Given the description of an element on the screen output the (x, y) to click on. 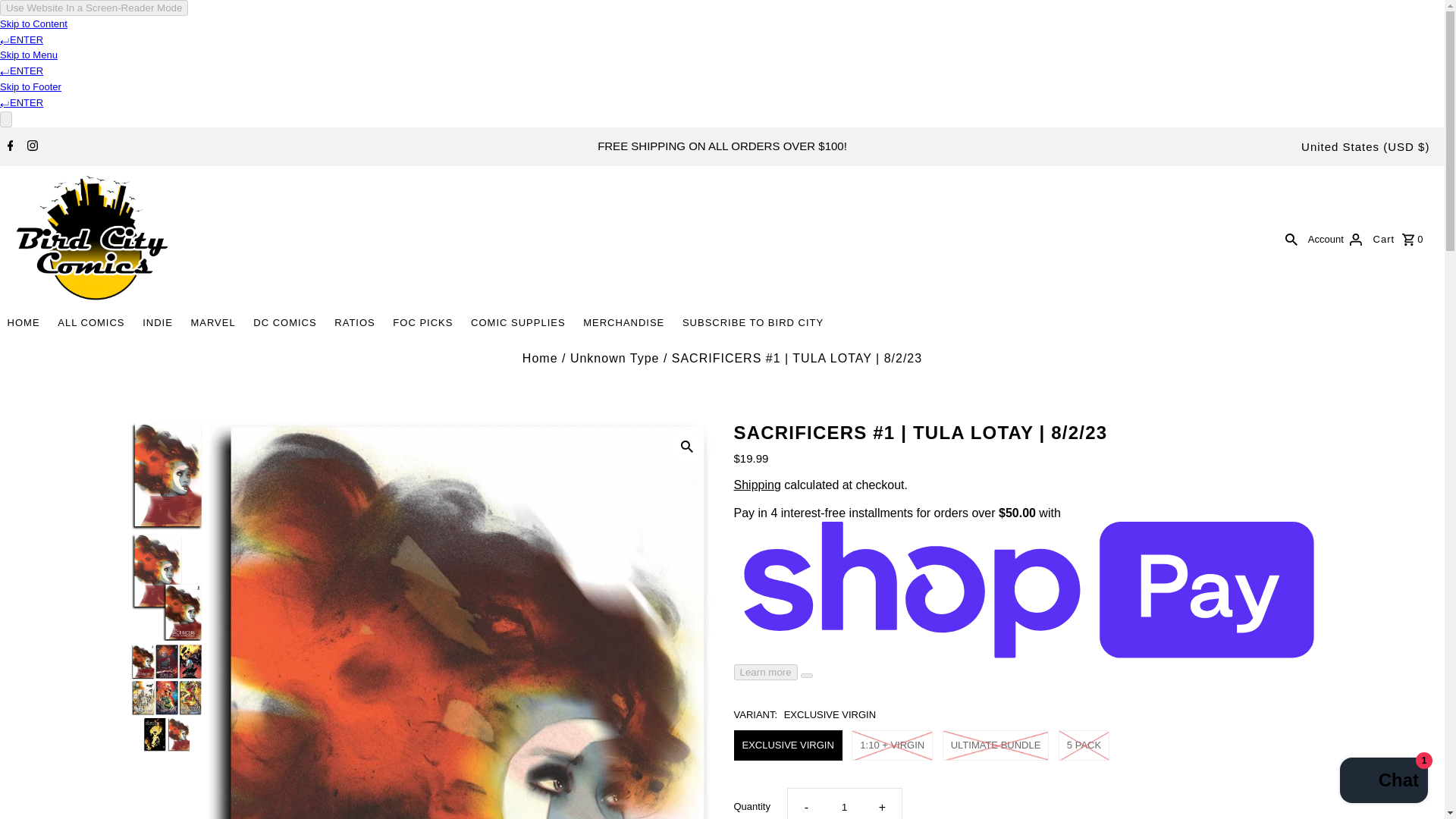
1 (844, 804)
Home (539, 358)
Click to zoom (686, 446)
